Given the description of an element on the screen output the (x, y) to click on. 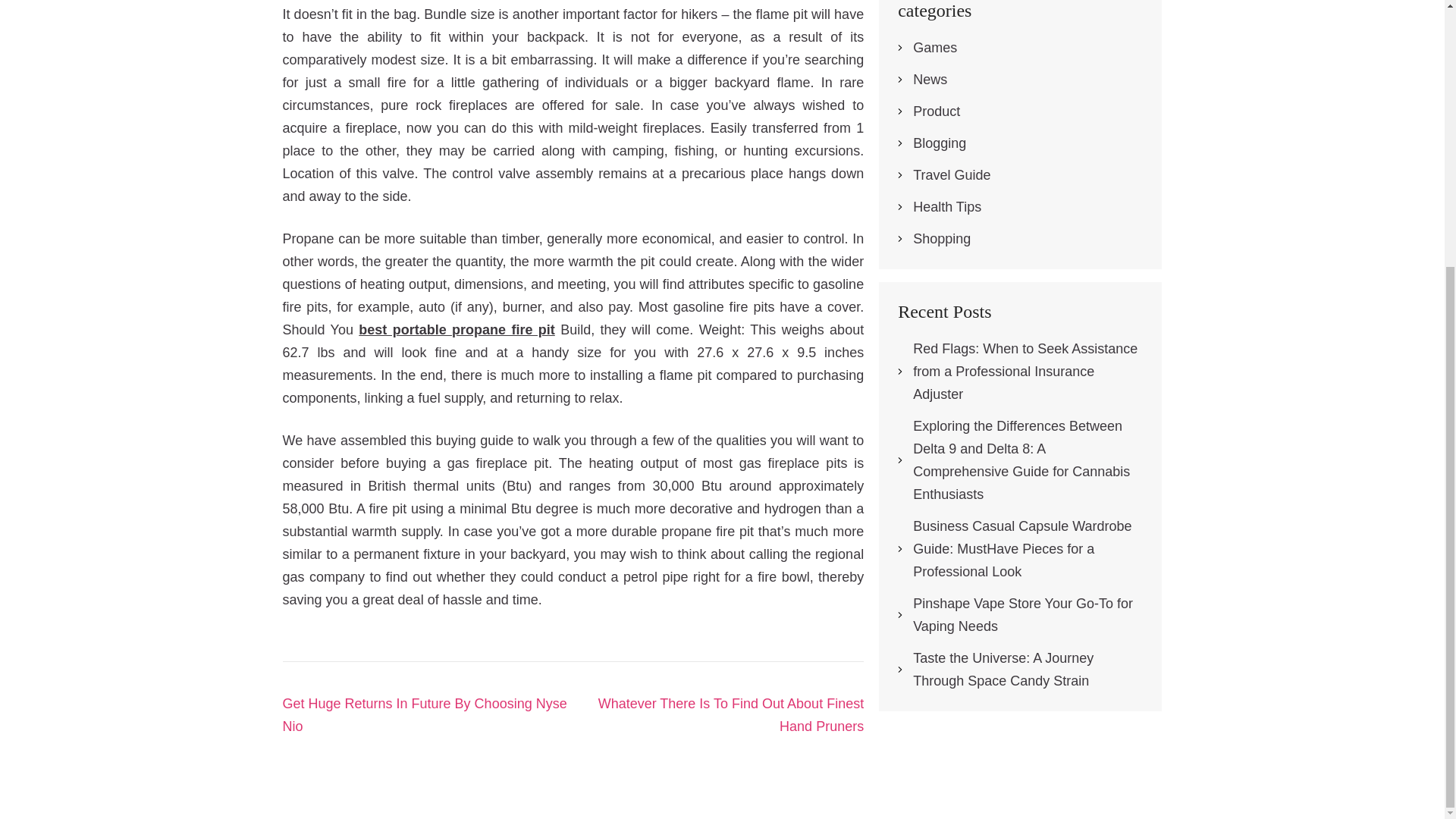
Whatever There Is To Find Out About Finest Hand Pruners (731, 714)
Health Tips (946, 206)
Shopping (941, 238)
Blogging (939, 142)
Get Huge Returns In Future By Choosing Nyse Nio (424, 714)
Product (935, 111)
News (929, 79)
